Given the description of an element on the screen output the (x, y) to click on. 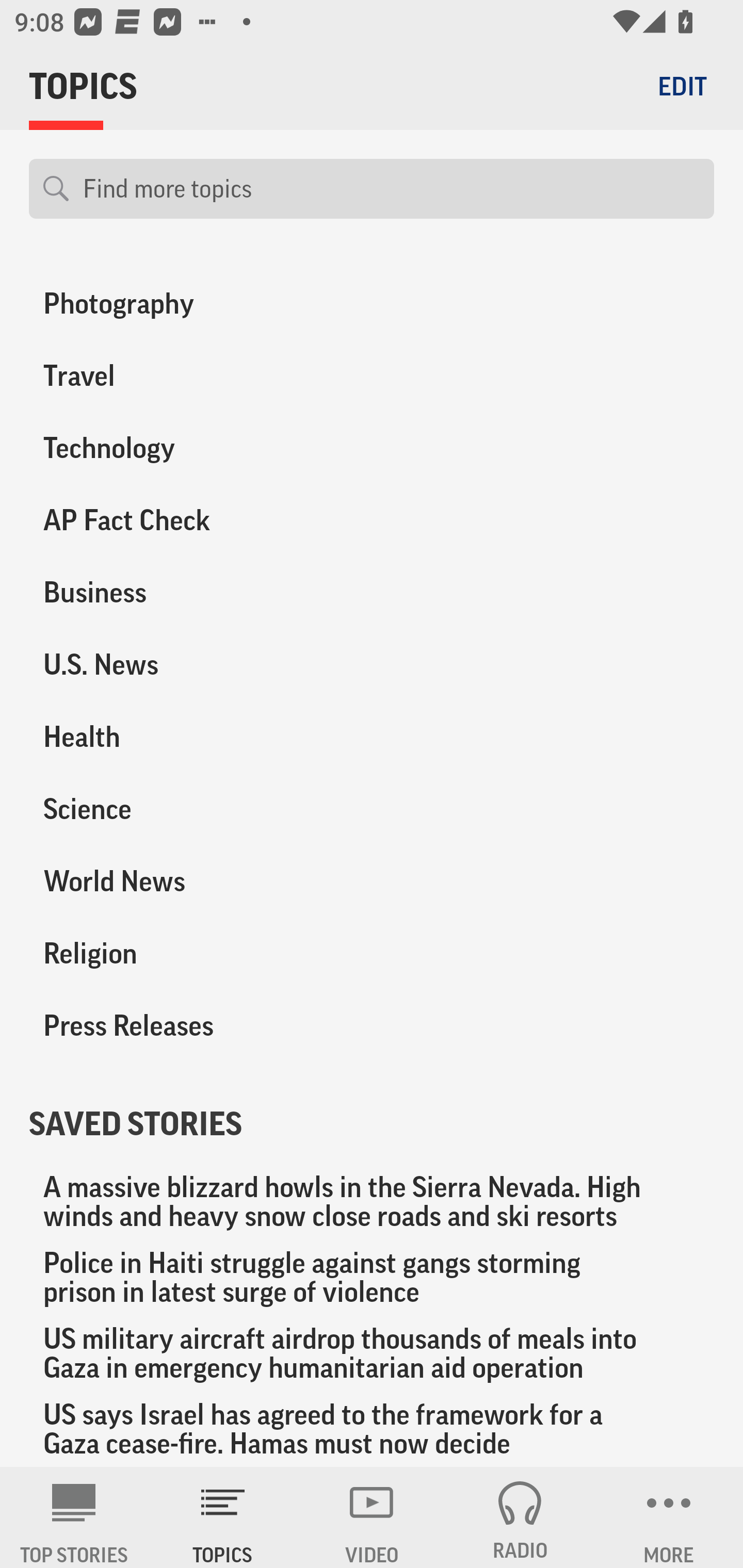
EDIT (682, 86)
Find more topics (391, 188)
Photography (185, 304)
Travel (185, 376)
Technology (185, 448)
AP Fact Check (185, 520)
Business (185, 592)
U.S. News (185, 664)
Health (185, 736)
Science (185, 809)
World News (185, 881)
Religion (185, 953)
Press Releases (185, 1025)
AP News TOP STORIES (74, 1517)
TOPICS (222, 1517)
VIDEO (371, 1517)
RADIO (519, 1517)
MORE (668, 1517)
